Given the description of an element on the screen output the (x, y) to click on. 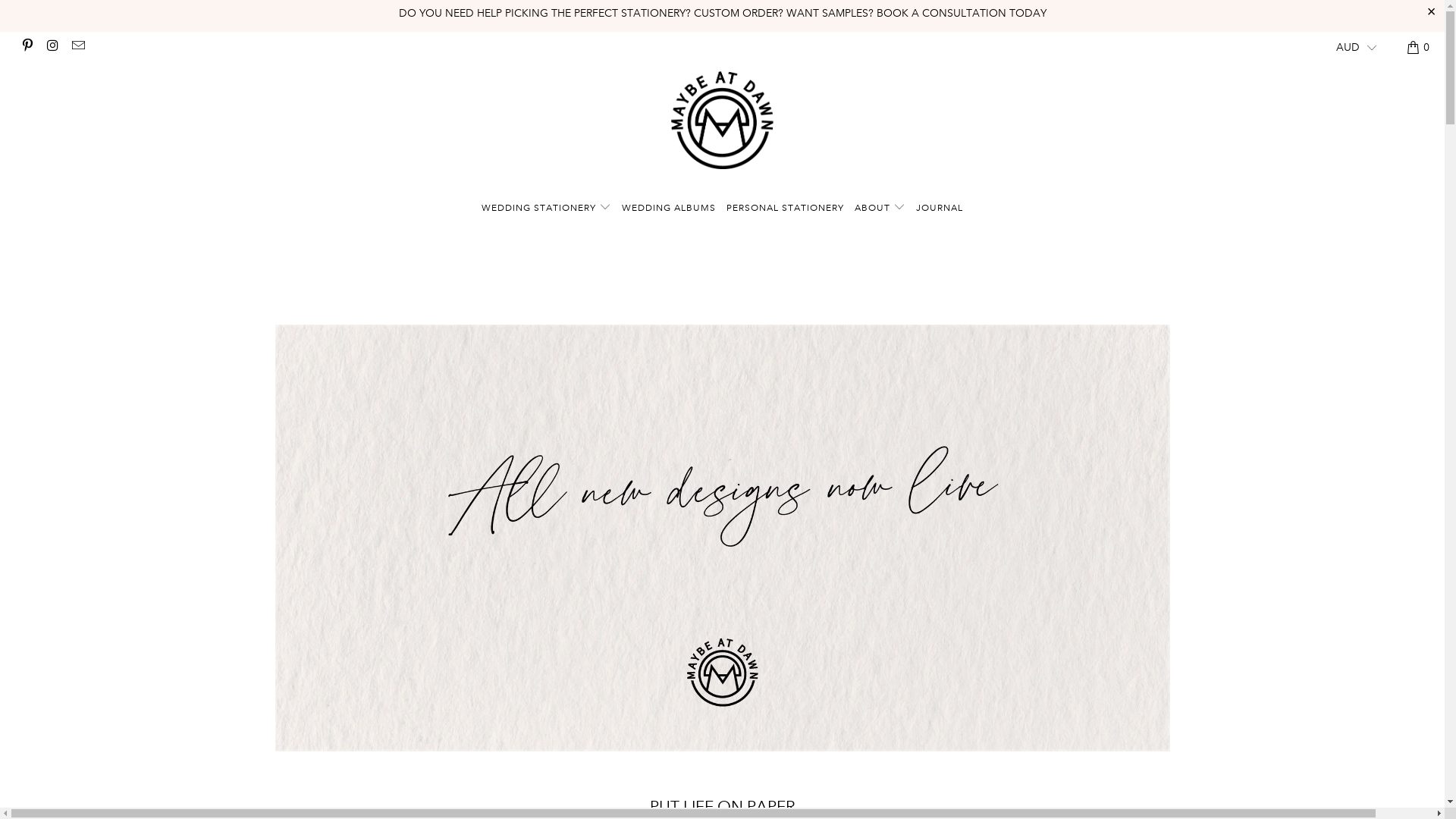
WEDDING STATIONERY Element type: text (546, 208)
JOURNAL Element type: text (939, 208)
Maybe at Dawn Element type: hover (722, 120)
ABOUT Element type: text (879, 208)
PERSONAL STATIONERY Element type: text (785, 208)
WEDDING ALBUMS Element type: text (668, 208)
0 Element type: text (1418, 46)
Maybe at Dawn on Instagram Element type: hover (51, 46)
Maybe at Dawn on Pinterest Element type: hover (26, 46)
Email Maybe at Dawn Element type: hover (76, 46)
